Given the description of an element on the screen output the (x, y) to click on. 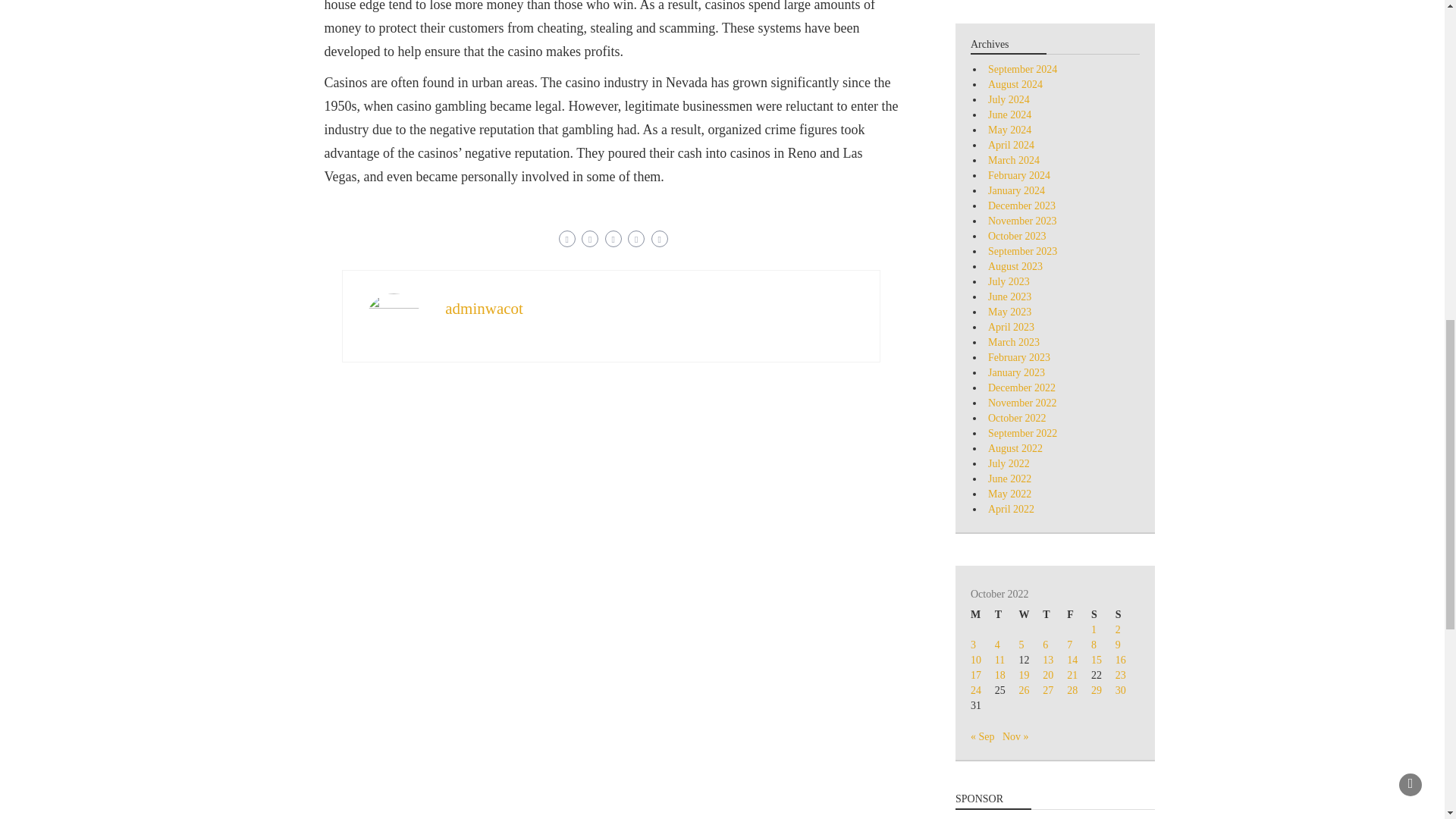
January 2024 (1016, 190)
Tuesday (1006, 614)
June 2024 (1009, 114)
adminwacot (483, 308)
Sunday (1127, 614)
March 2024 (1013, 160)
July 2024 (1008, 99)
August 2024 (1015, 84)
May 2024 (1009, 129)
Monday (982, 614)
